Given the description of an element on the screen output the (x, y) to click on. 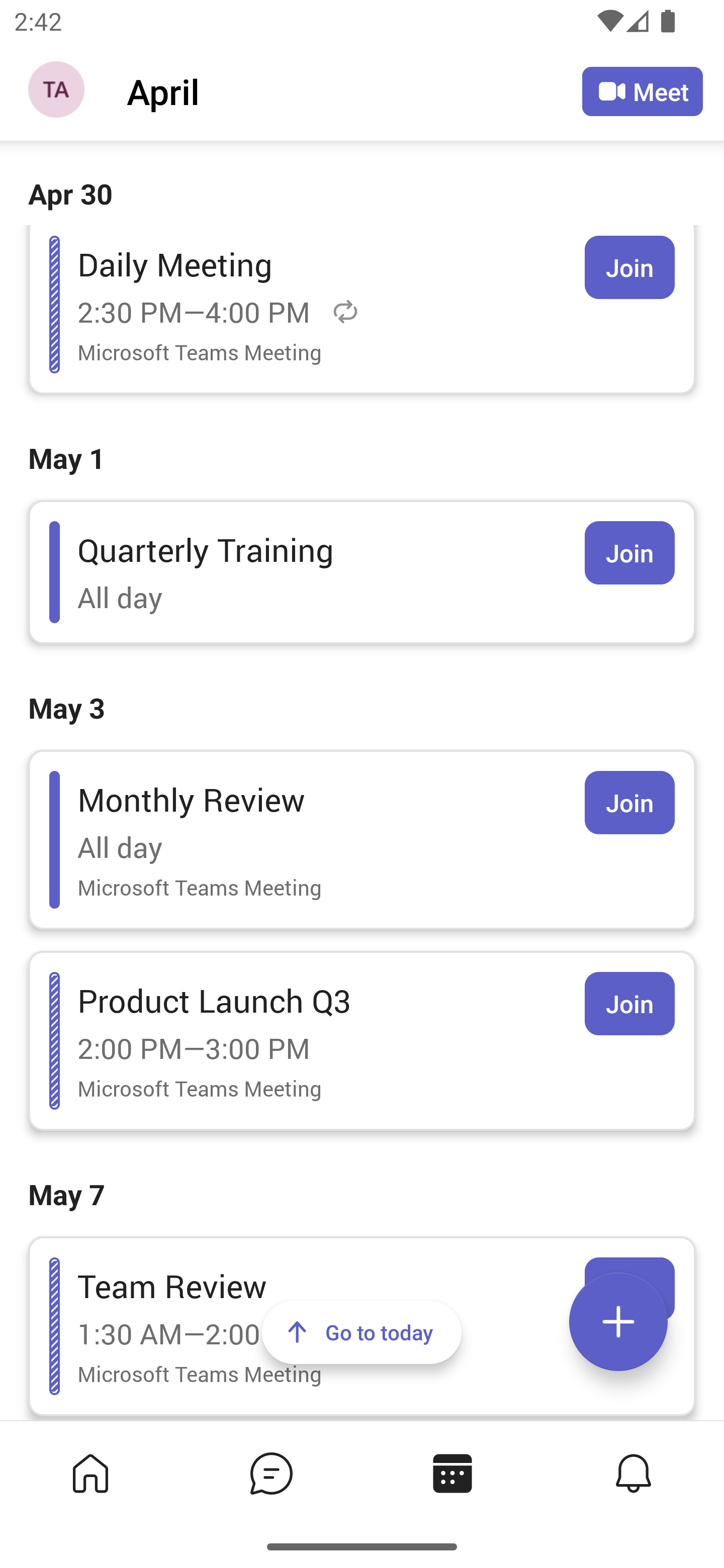
Navigation (58, 91)
Meet Meet now or join with an ID (642, 91)
April April Calendar Agenda View (354, 90)
Join (629, 267)
Join (629, 552)
Join (629, 802)
Join (629, 1003)
Expand meetings menu (618, 1321)
Go to today (361, 1331)
Home tab,1 of 4, not selected (90, 1472)
Chat tab,2 of 4, not selected (271, 1472)
Calendar tab, 3 of 4 (452, 1472)
Activity tab,4 of 4, not selected (633, 1472)
